Given the description of an element on the screen output the (x, y) to click on. 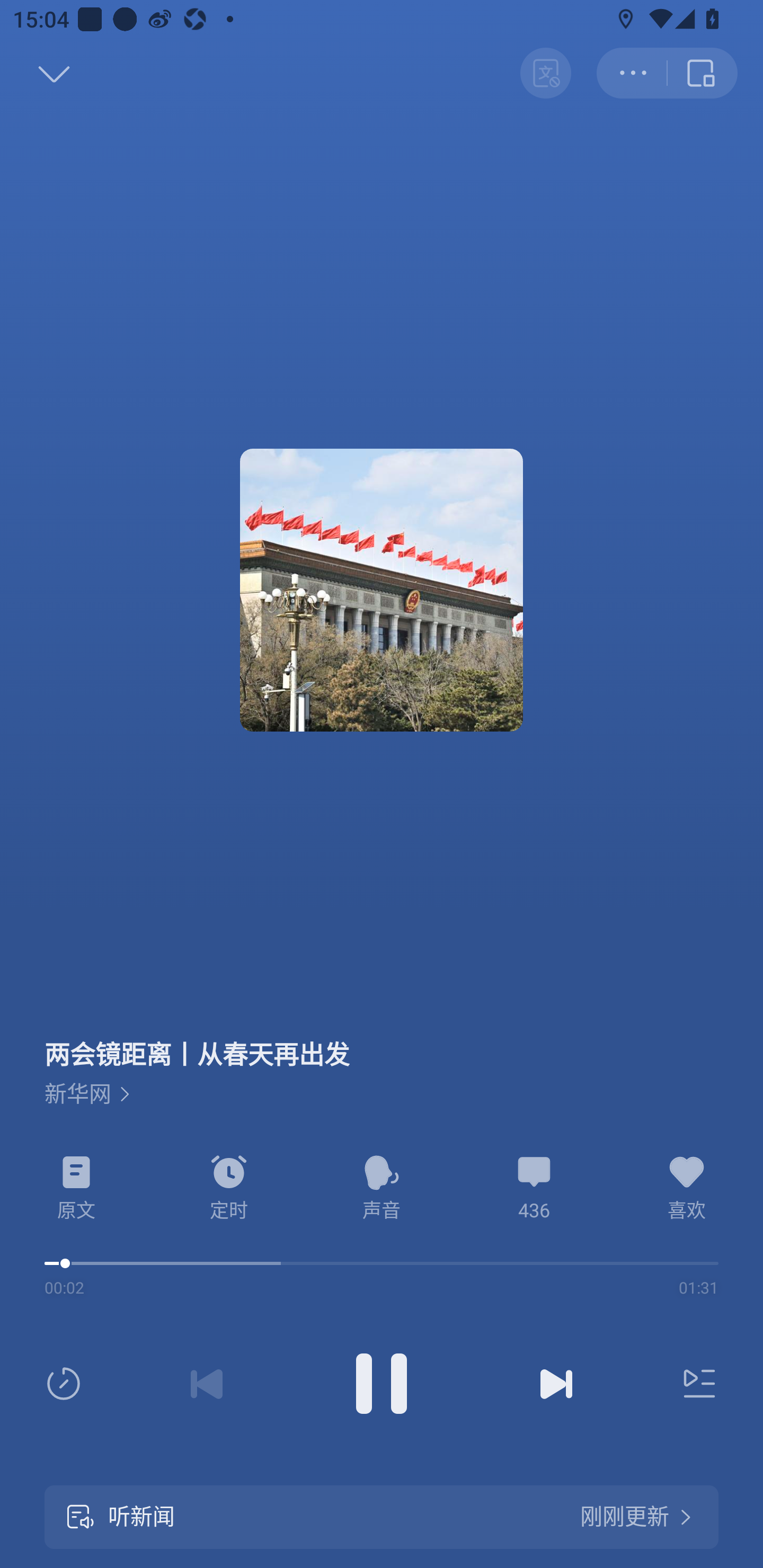
返回 (35, 72)
更多 (631, 72)
返回 (702, 72)
新华网 (87, 1094)
原文 (76, 1188)
定时，按钮 定时 (228, 1188)
声音，音色按钮 声音 (381, 1188)
436条评论，按钮 436 (533, 1188)
喜欢，按钮 喜欢 (686, 1188)
暂停 (381, 1383)
倍速，按钮 (67, 1383)
列表，按钮 (695, 1383)
听新闻 刚刚更新 (381, 1516)
